Given the description of an element on the screen output the (x, y) to click on. 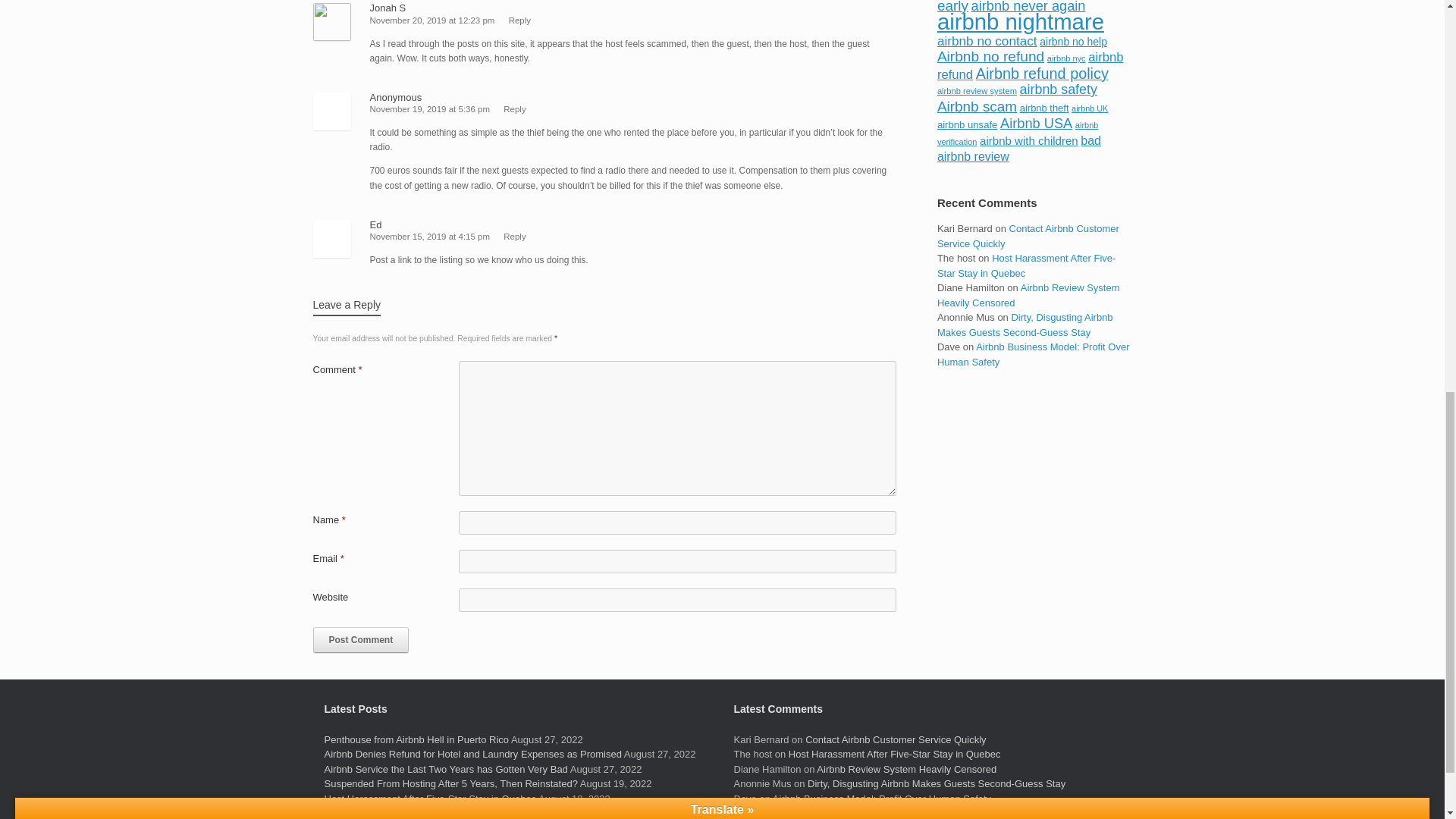
November 20, 2019 at 12:23 pm (432, 20)
Post Comment (361, 639)
Reply (519, 20)
